Given the description of an element on the screen output the (x, y) to click on. 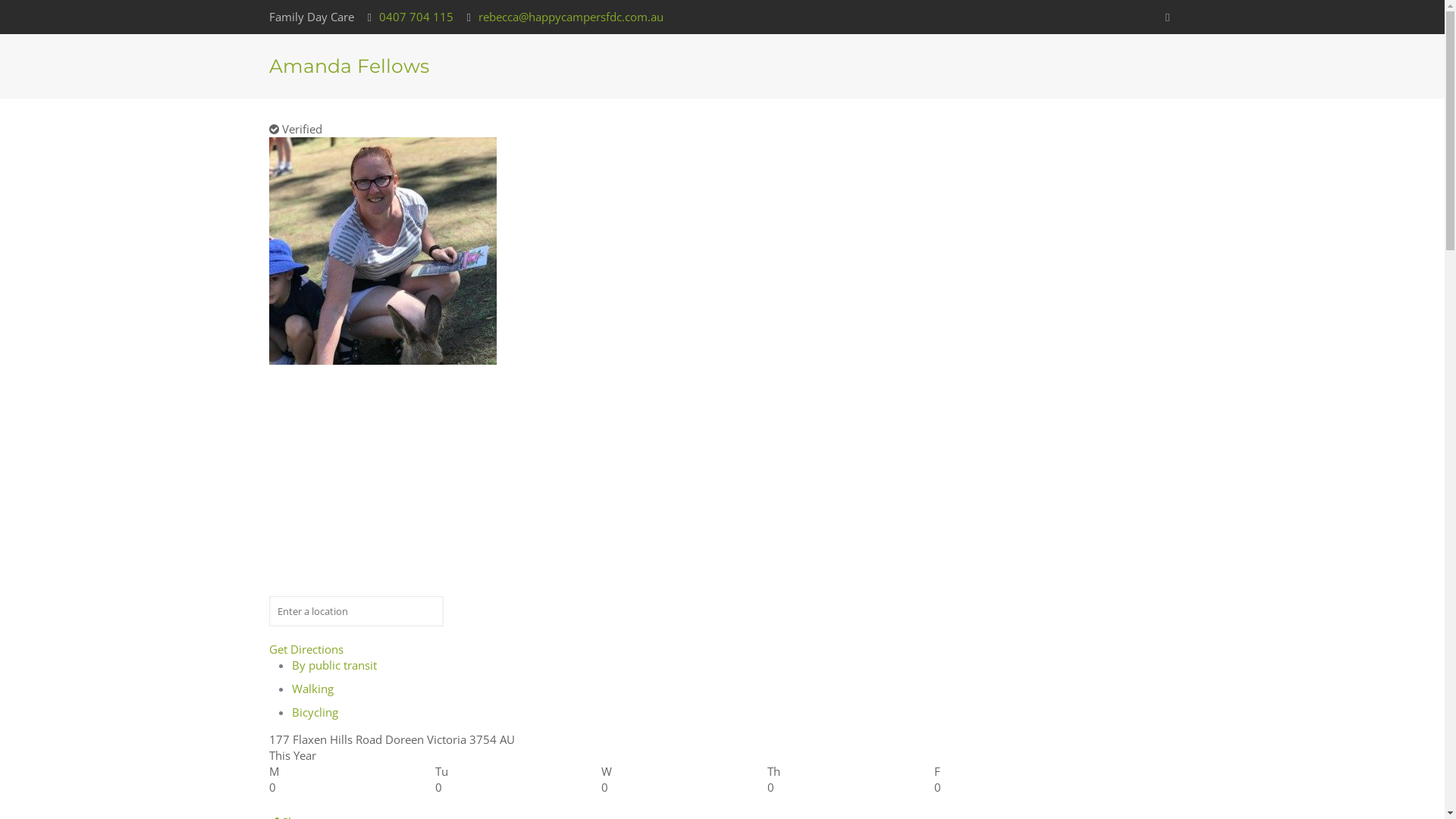
Bicycling Element type: text (314, 711)
Get Directions Element type: text (306, 648)
Walking Element type: text (312, 688)
By public transit Element type: text (333, 664)
rebecca@happycampersfdc.com.au Element type: text (570, 16)
0407 704 115 Element type: text (416, 16)
Facebook Element type: hover (1167, 16)
